Given the description of an element on the screen output the (x, y) to click on. 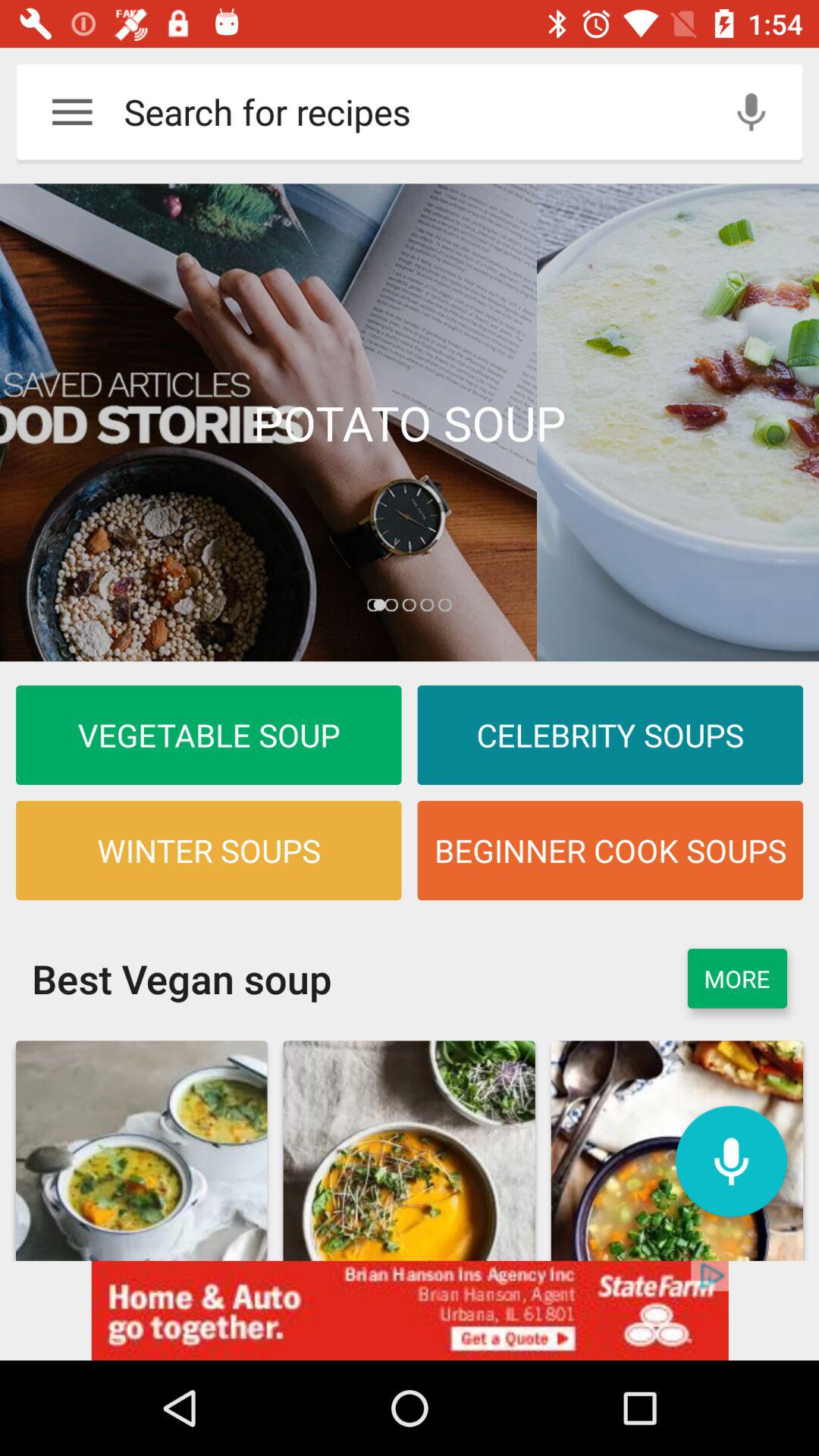
go to advertisement (409, 1310)
